Given the description of an element on the screen output the (x, y) to click on. 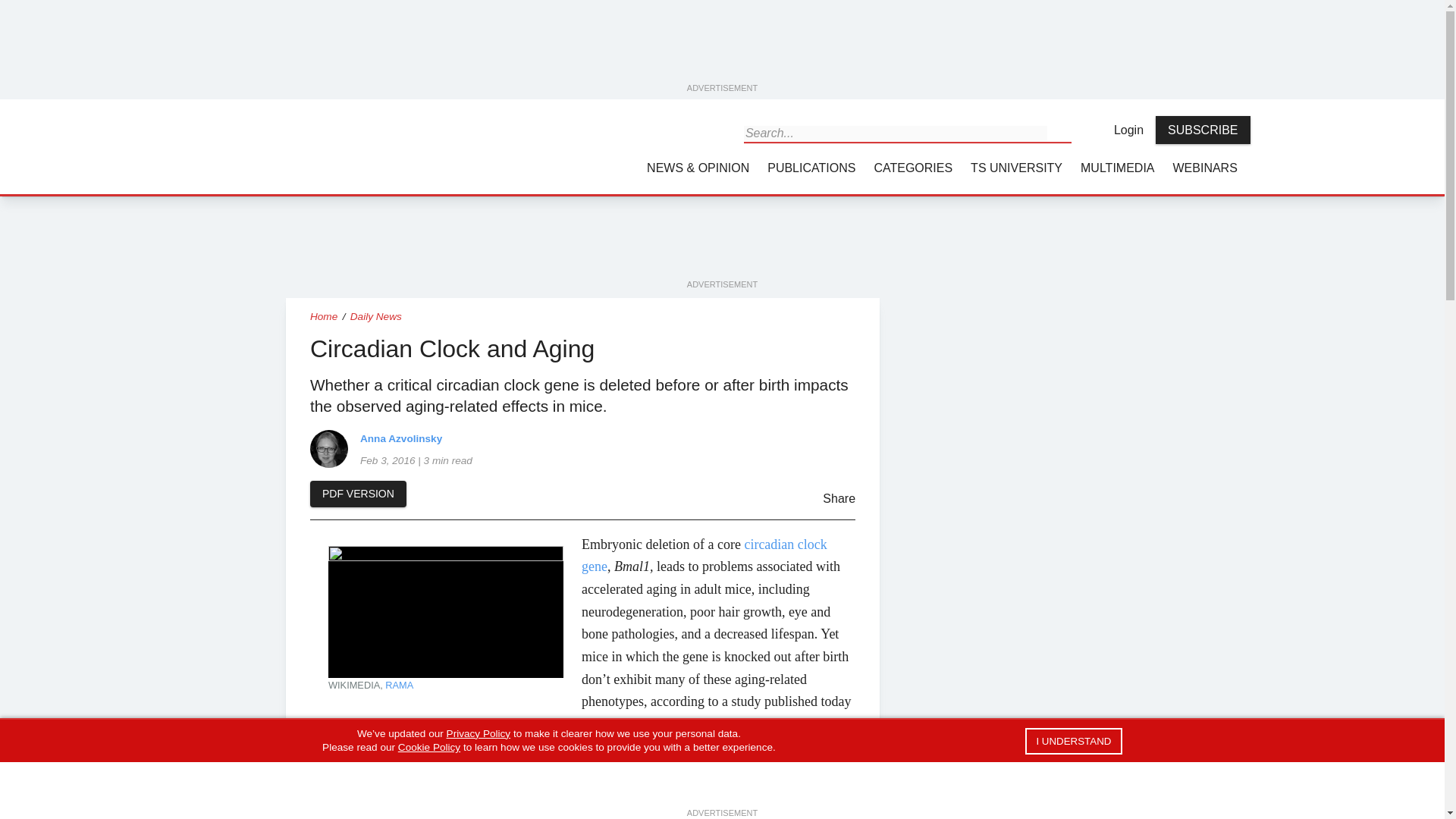
Anna Azvolinsky (328, 447)
